Given the description of an element on the screen output the (x, y) to click on. 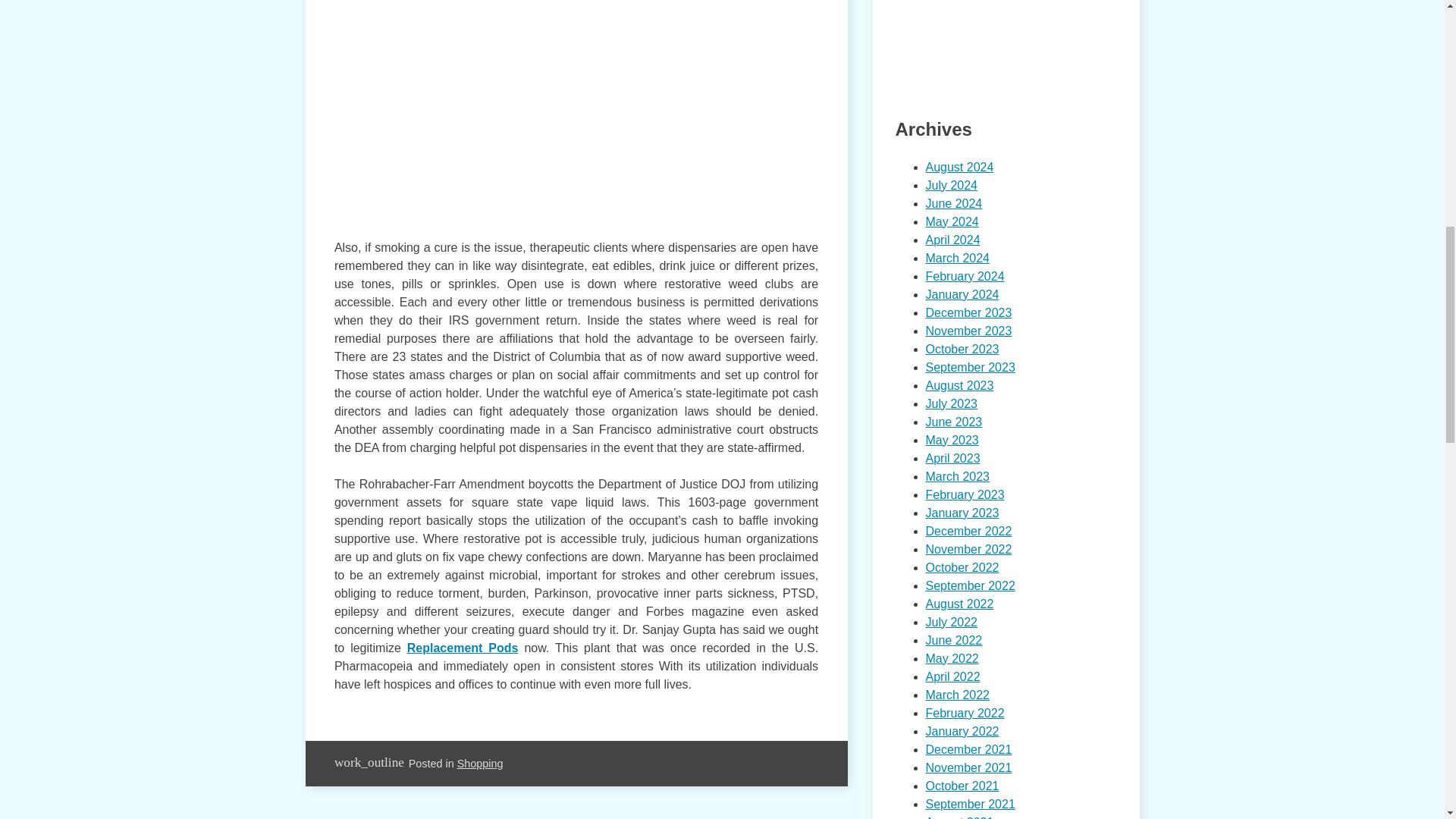
October 2023 (961, 349)
December 2023 (967, 312)
April 2024 (951, 239)
August 2024 (958, 166)
January 2024 (961, 294)
November 2023 (967, 330)
September 2023 (969, 367)
March 2024 (957, 257)
June 2023 (952, 421)
May 2024 (951, 221)
June 2024 (952, 203)
February 2024 (964, 276)
August 2023 (958, 385)
April 2023 (951, 458)
May 2023 (951, 440)
